Given the description of an element on the screen output the (x, y) to click on. 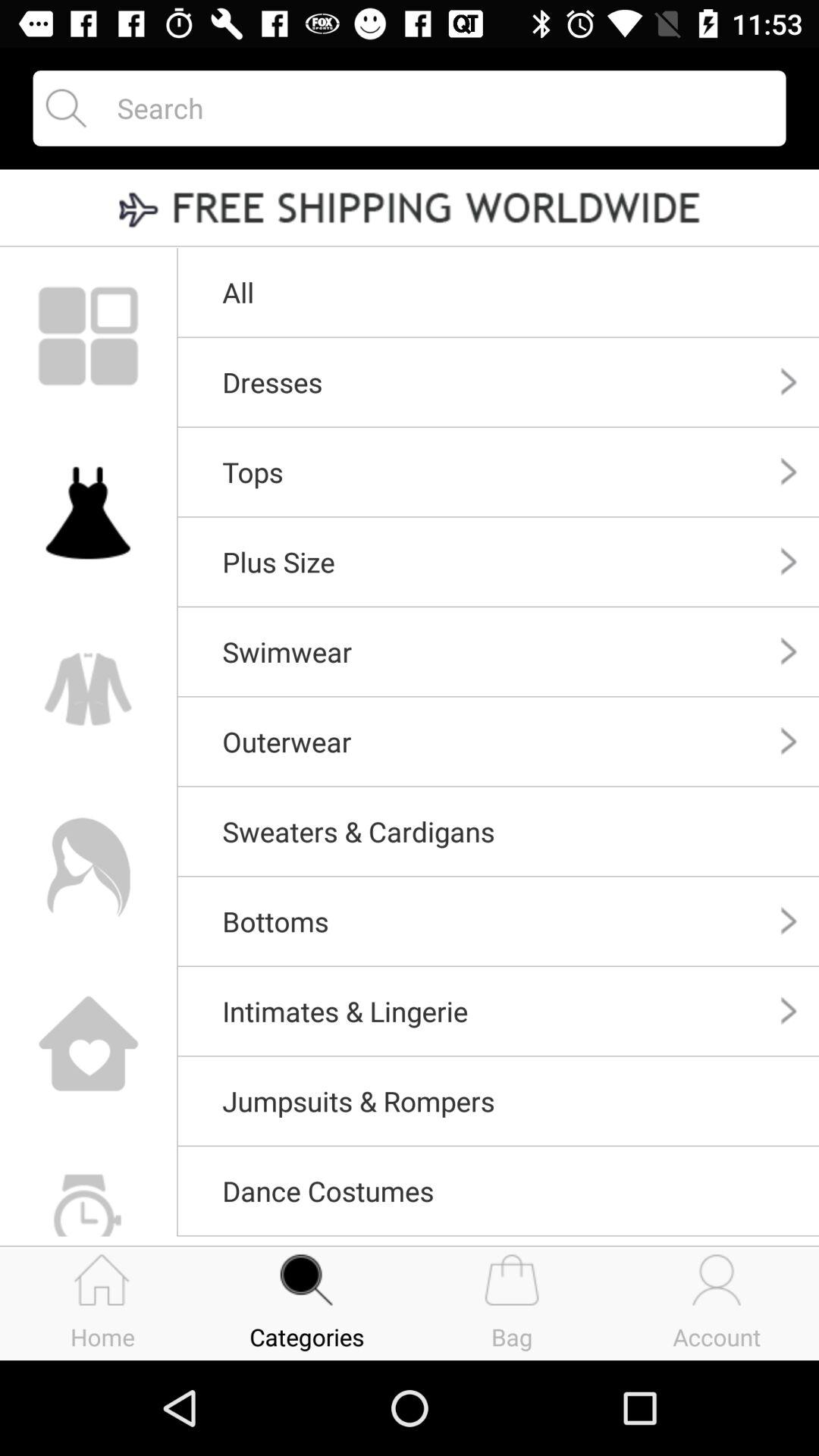
search textbox (437, 108)
